Given the description of an element on the screen output the (x, y) to click on. 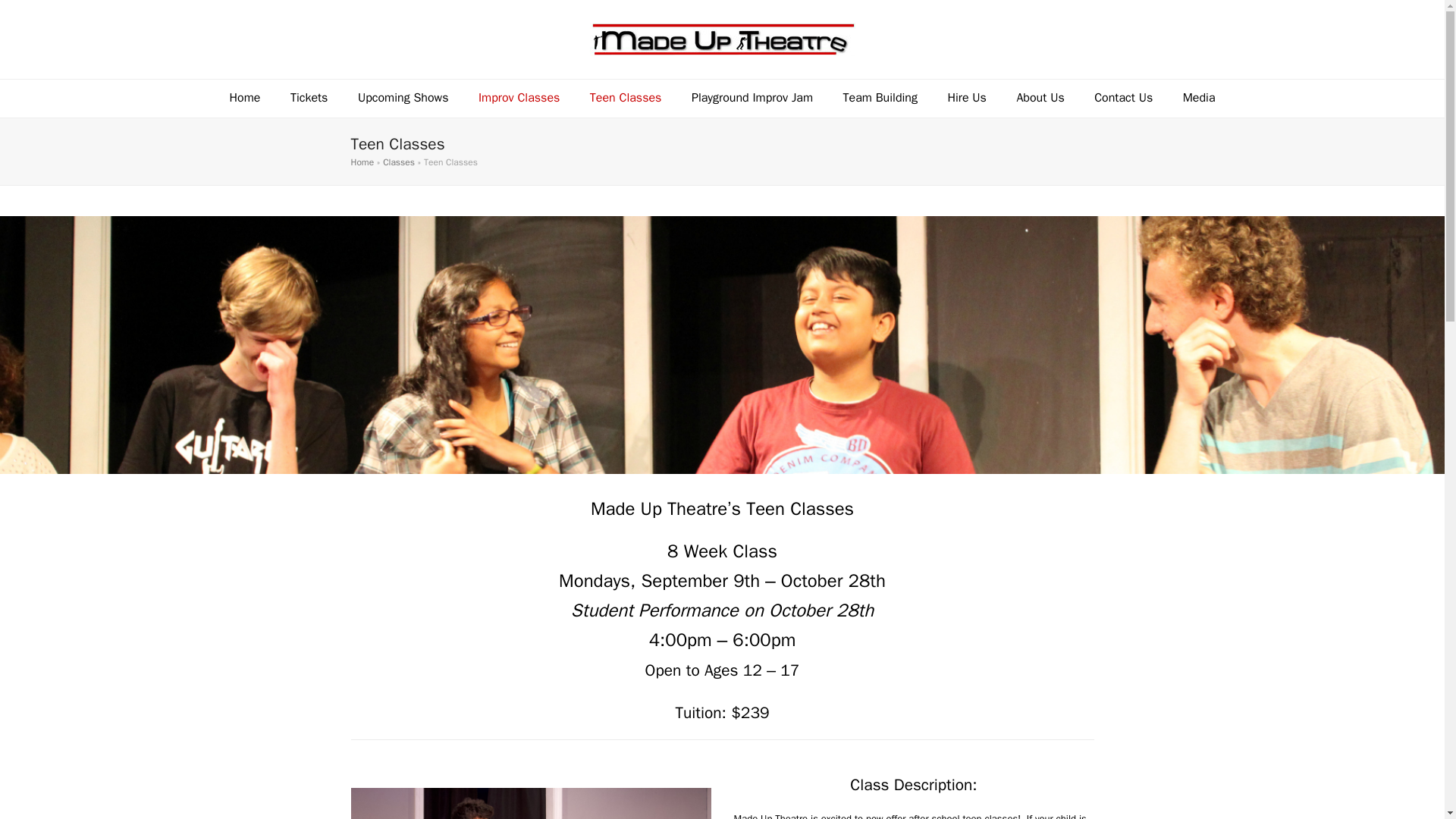
Contact Us (1123, 98)
Playground Improv Jam (752, 98)
Team Building (880, 98)
Teen Classes (625, 98)
Media (1198, 98)
Improv Classes (518, 98)
Home (245, 98)
Tickets (308, 98)
Hire Us (967, 98)
Upcoming Shows (402, 98)
